Given the description of an element on the screen output the (x, y) to click on. 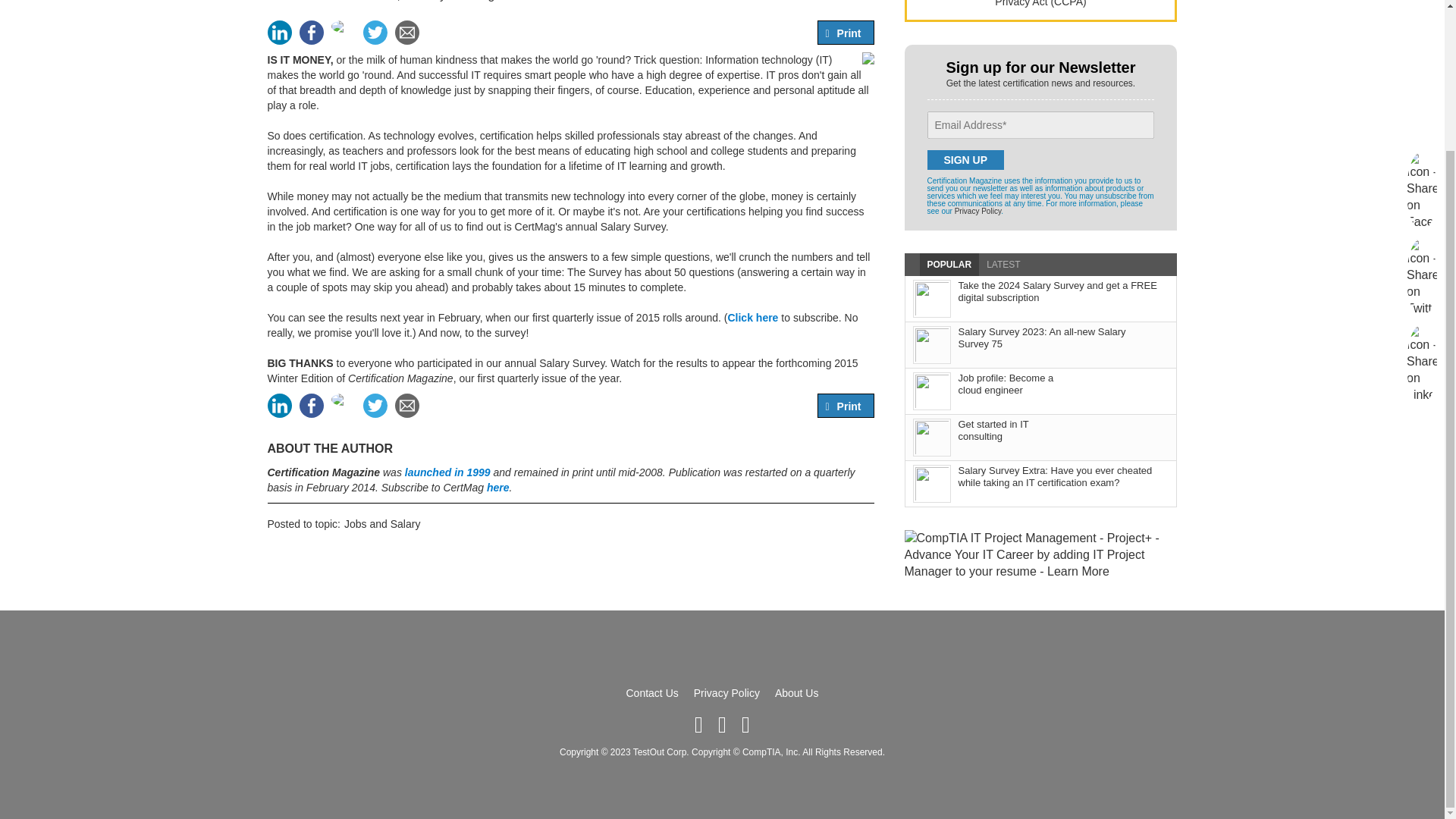
Print (849, 33)
Print (849, 406)
Sign Up (965, 159)
